Given the description of an element on the screen output the (x, y) to click on. 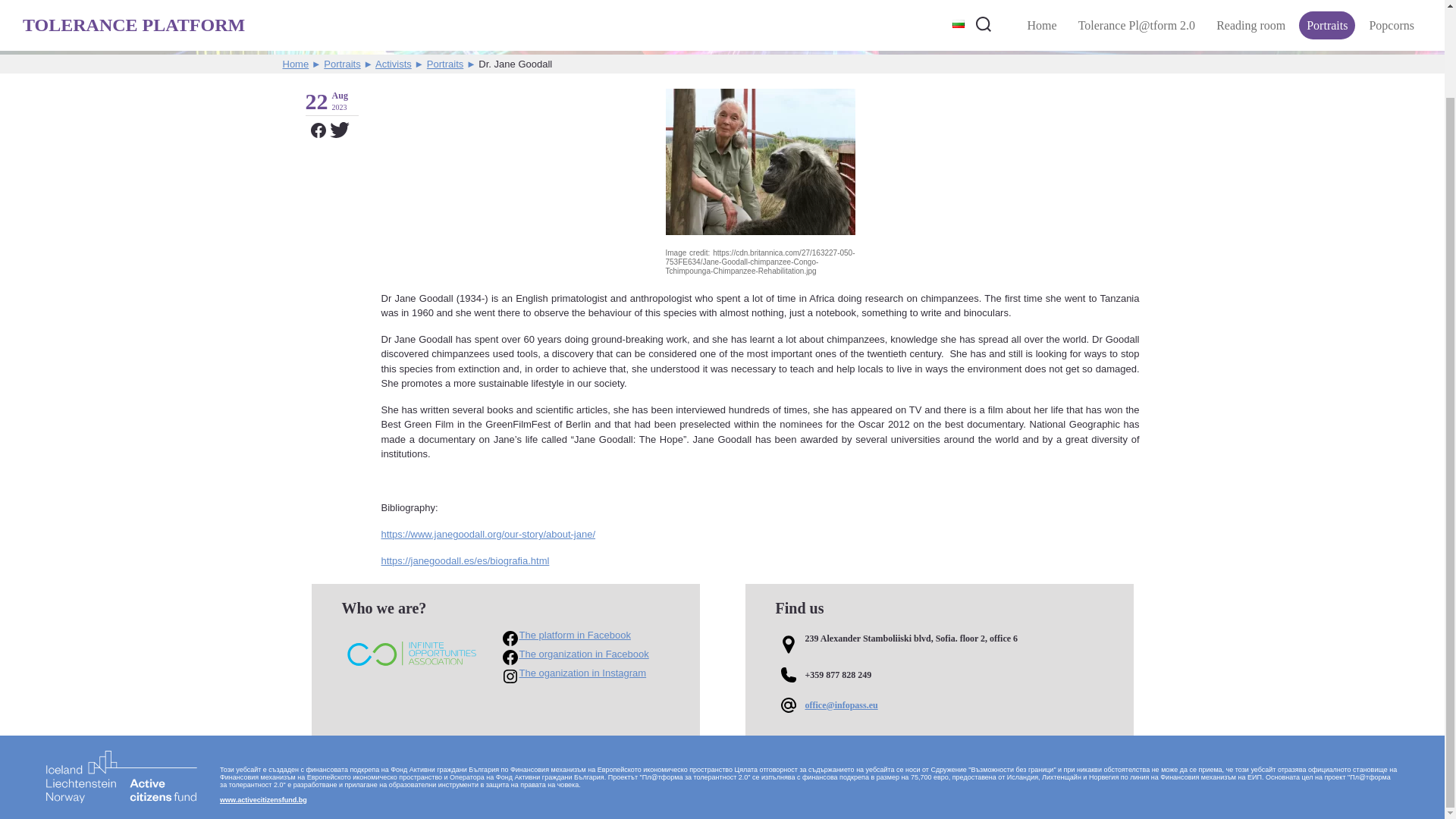
E-Mail (938, 705)
Phone (938, 675)
Address (938, 644)
